Given the description of an element on the screen output the (x, y) to click on. 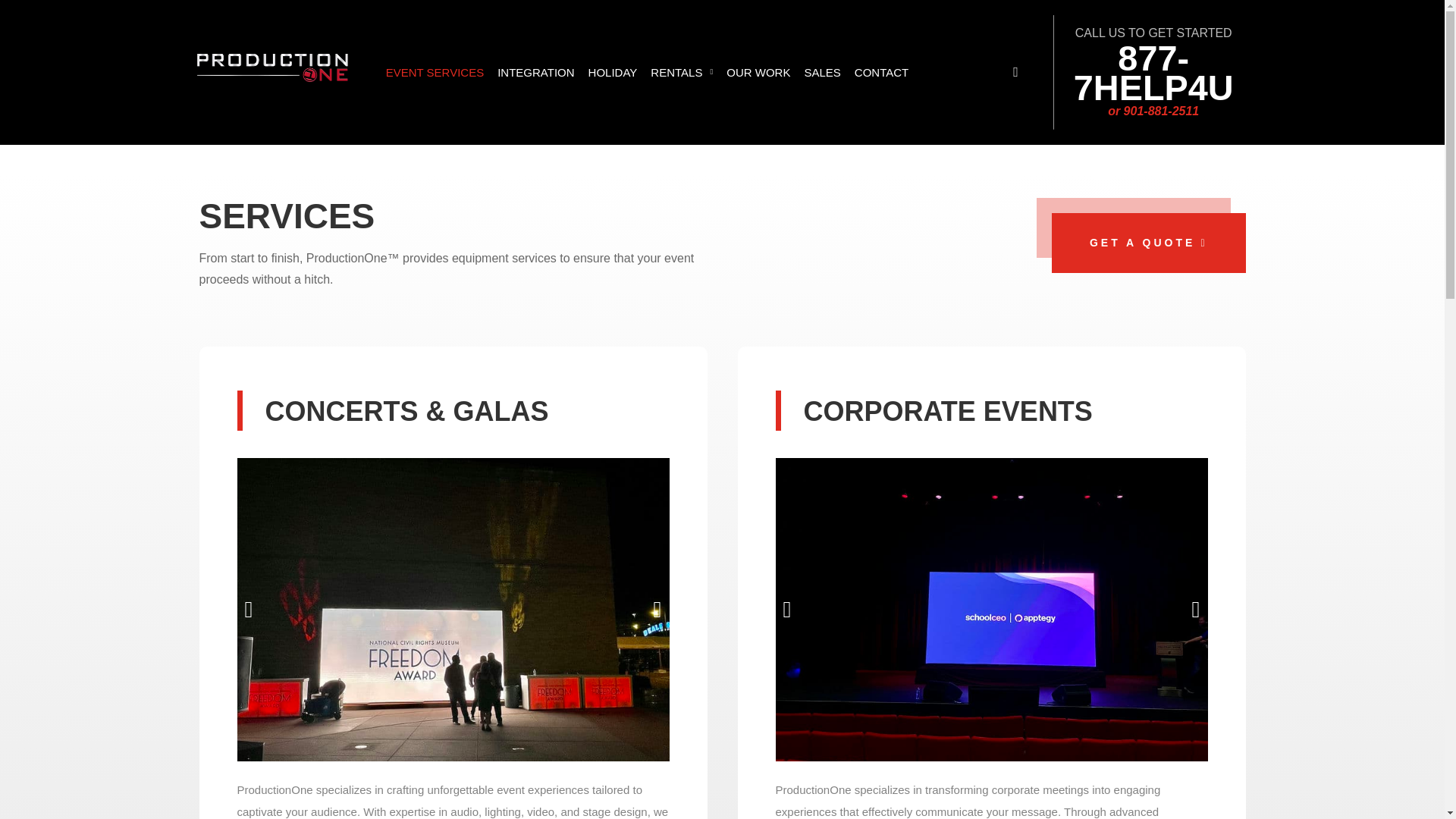
INTEGRATION (535, 72)
HOLIDAY (612, 72)
RENTALS (681, 72)
EVENT SERVICES (435, 72)
